Given the description of an element on the screen output the (x, y) to click on. 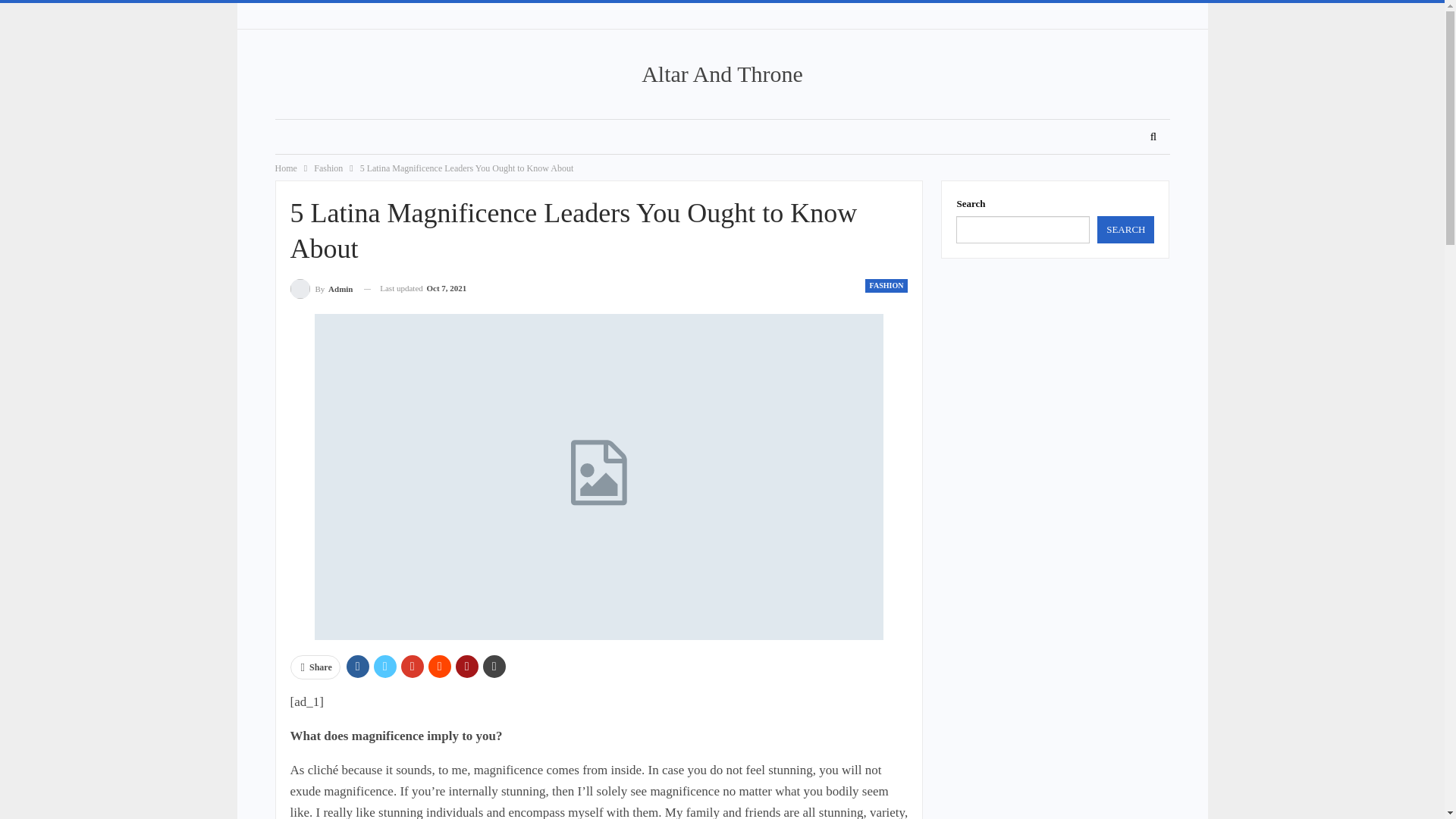
Home (286, 167)
Browse Author Articles (320, 288)
Fashion (328, 167)
FASHION (886, 285)
By Admin (320, 288)
Altar And Throne (722, 73)
